Given the description of an element on the screen output the (x, y) to click on. 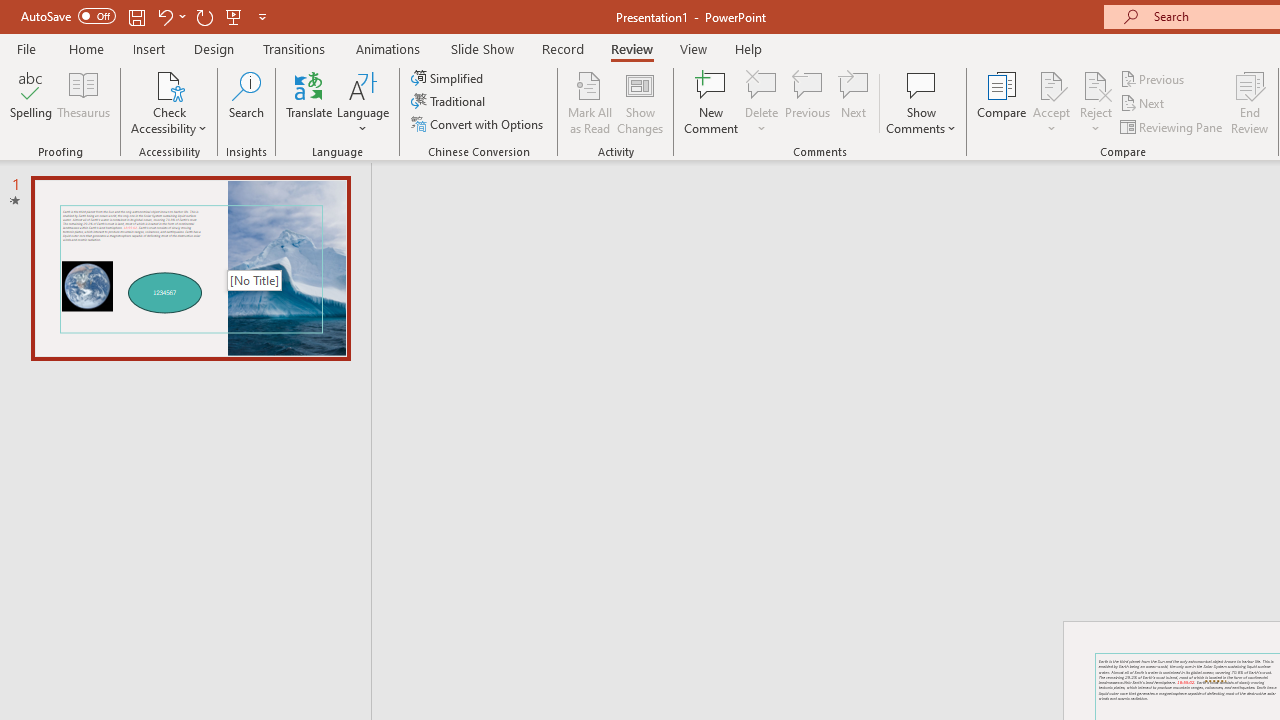
Accept Change (1051, 84)
Convert with Options... (479, 124)
Accept (1051, 102)
Show Changes (639, 102)
